Given the description of an element on the screen output the (x, y) to click on. 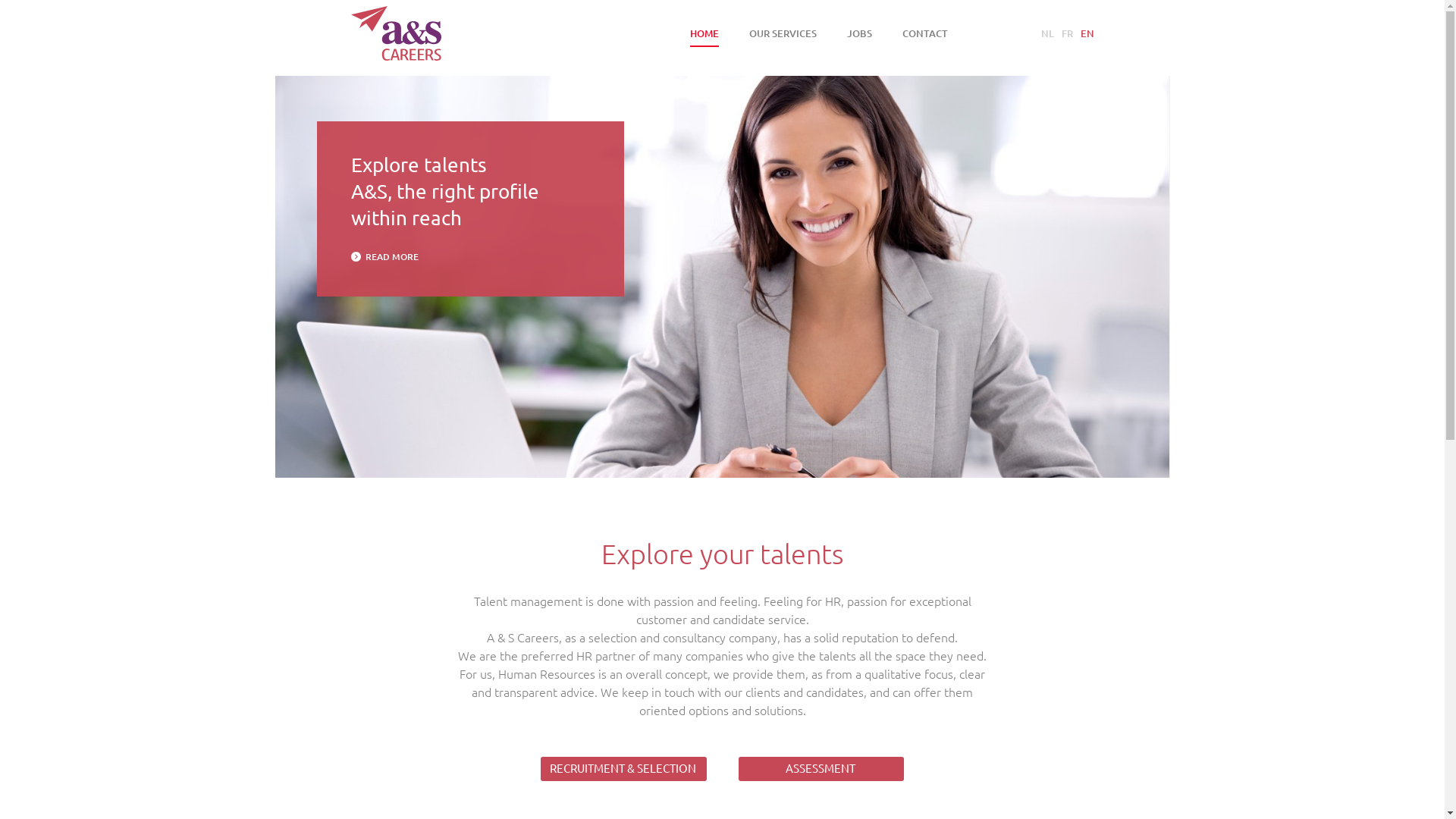
CONTACT Element type: text (924, 33)
RECRUITMENT & SELECTION Element type: text (623, 768)
OUR SERVICES Element type: text (782, 33)
JOBS Element type: text (858, 33)
HOME Element type: text (704, 33)
ASSESSMENT Element type: text (820, 768)
FR Element type: text (1066, 33)
READ MORE Element type: text (383, 256)
NL Element type: text (1047, 33)
EN Element type: text (1085, 33)
